Given the description of an element on the screen output the (x, y) to click on. 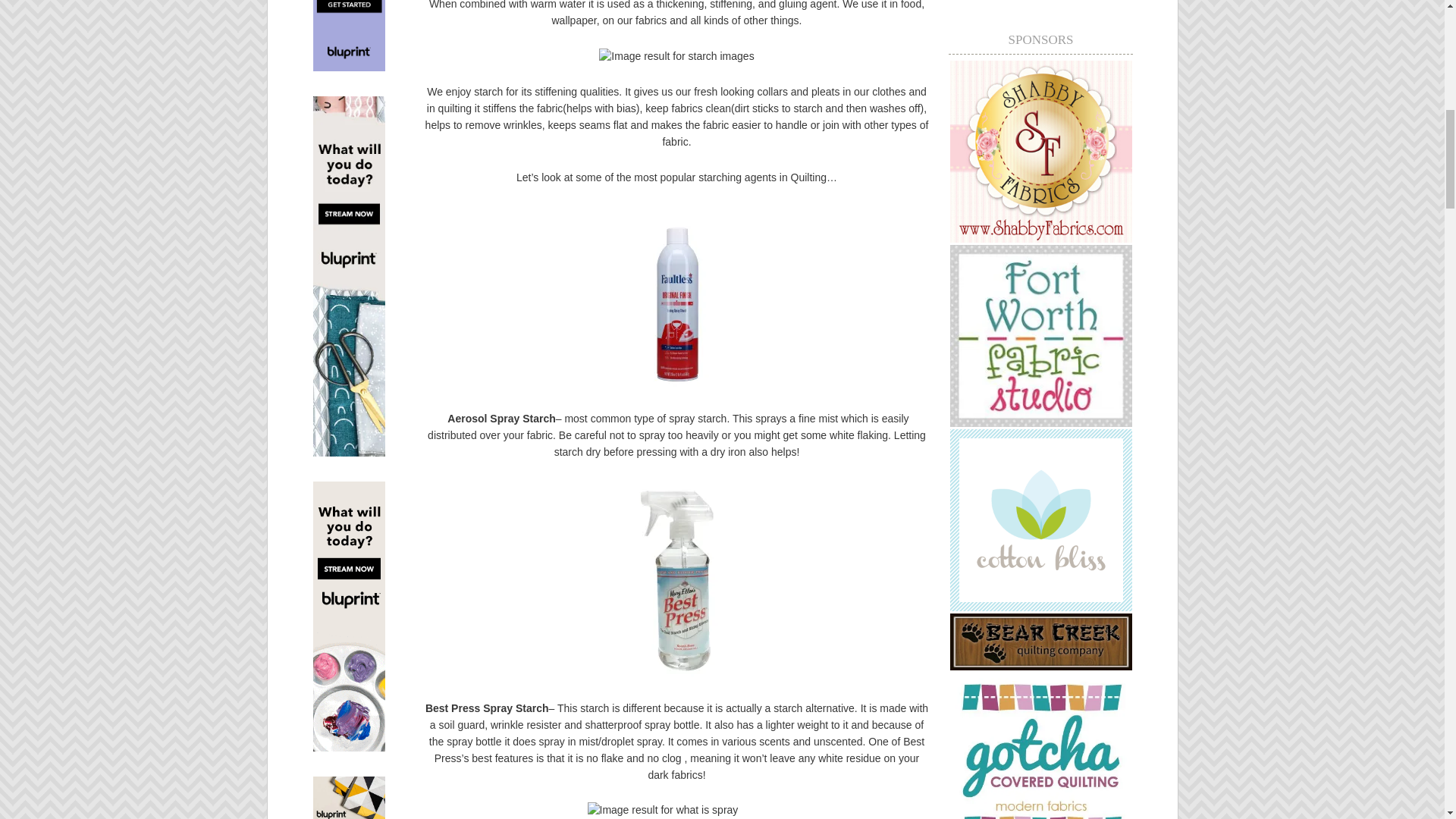
Shabby Fabrics (1040, 238)
Fort Worth Fabric Studio (1040, 422)
CottonBliss  (1040, 607)
Bear Creek Quilting Company  (1040, 666)
